Given the description of an element on the screen output the (x, y) to click on. 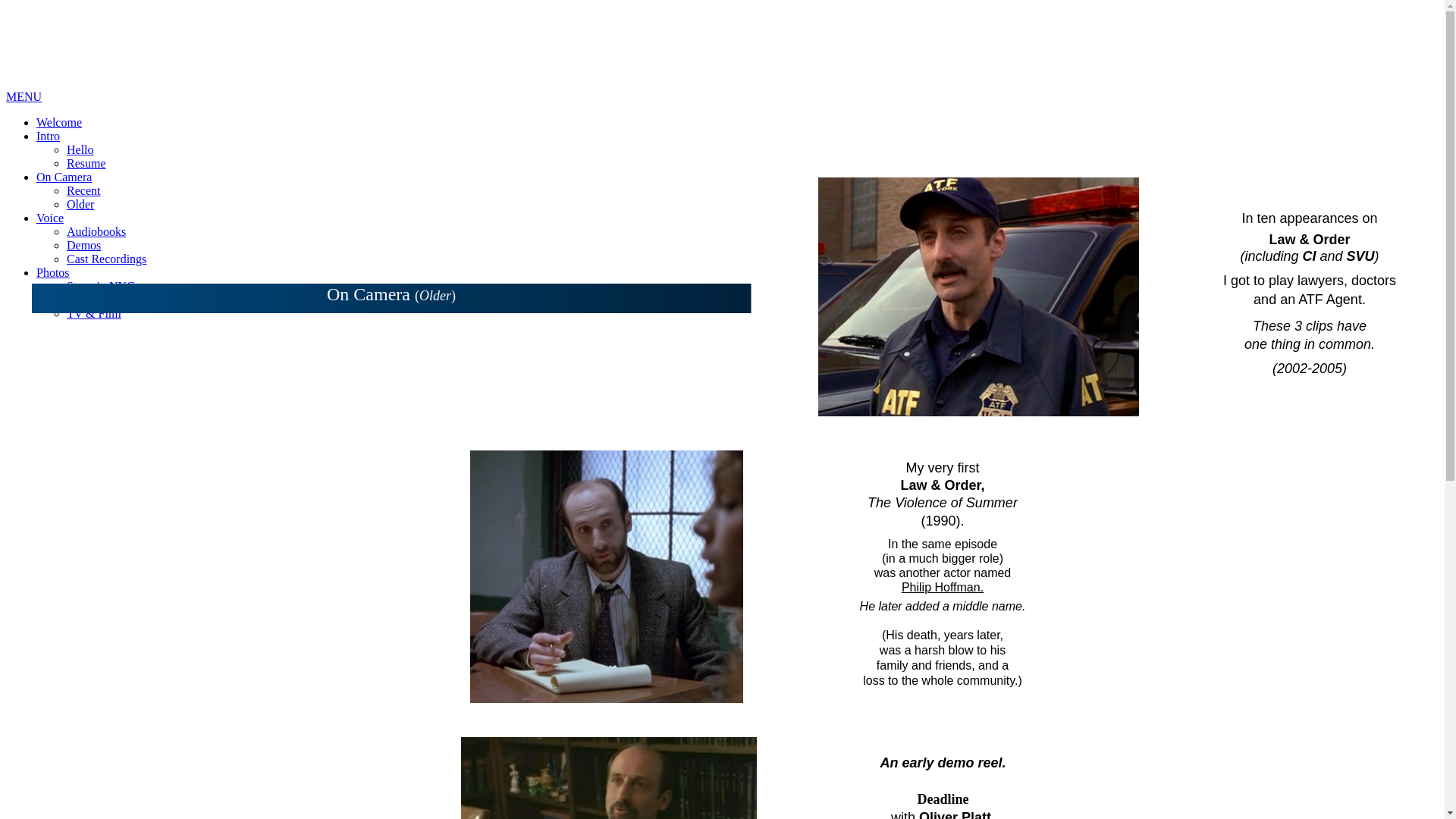
Philip Hoffman. Element type: text (942, 586)
Hello Element type: text (80, 149)
Stage Elsewhere Element type: text (106, 299)
Intro Element type: text (47, 135)
Older Element type: text (80, 203)
Audiobooks Element type: text (95, 231)
Voice Element type: text (49, 217)
Stage in NYC Element type: text (100, 285)
Resume Element type: text (86, 162)
TV & Film Element type: text (93, 313)
Recent Element type: text (83, 190)
Cast Recordings Element type: text (106, 258)
Welcome Element type: text (58, 122)
MENU Element type: text (23, 96)
Photos Element type: text (52, 272)
On Camera Element type: text (63, 176)
Demos Element type: text (83, 244)
